Given the description of an element on the screen output the (x, y) to click on. 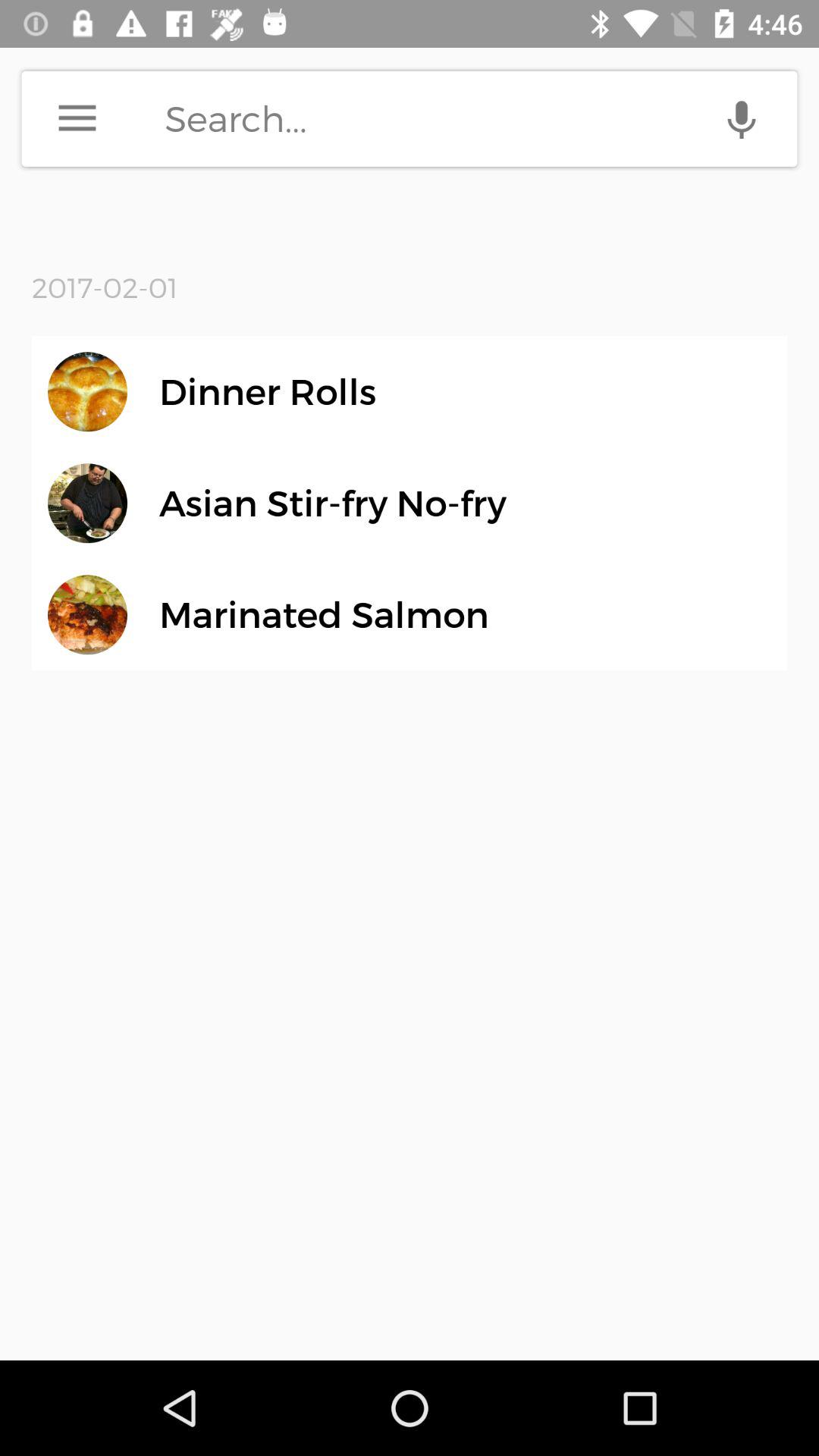
search (480, 118)
